Given the description of an element on the screen output the (x, y) to click on. 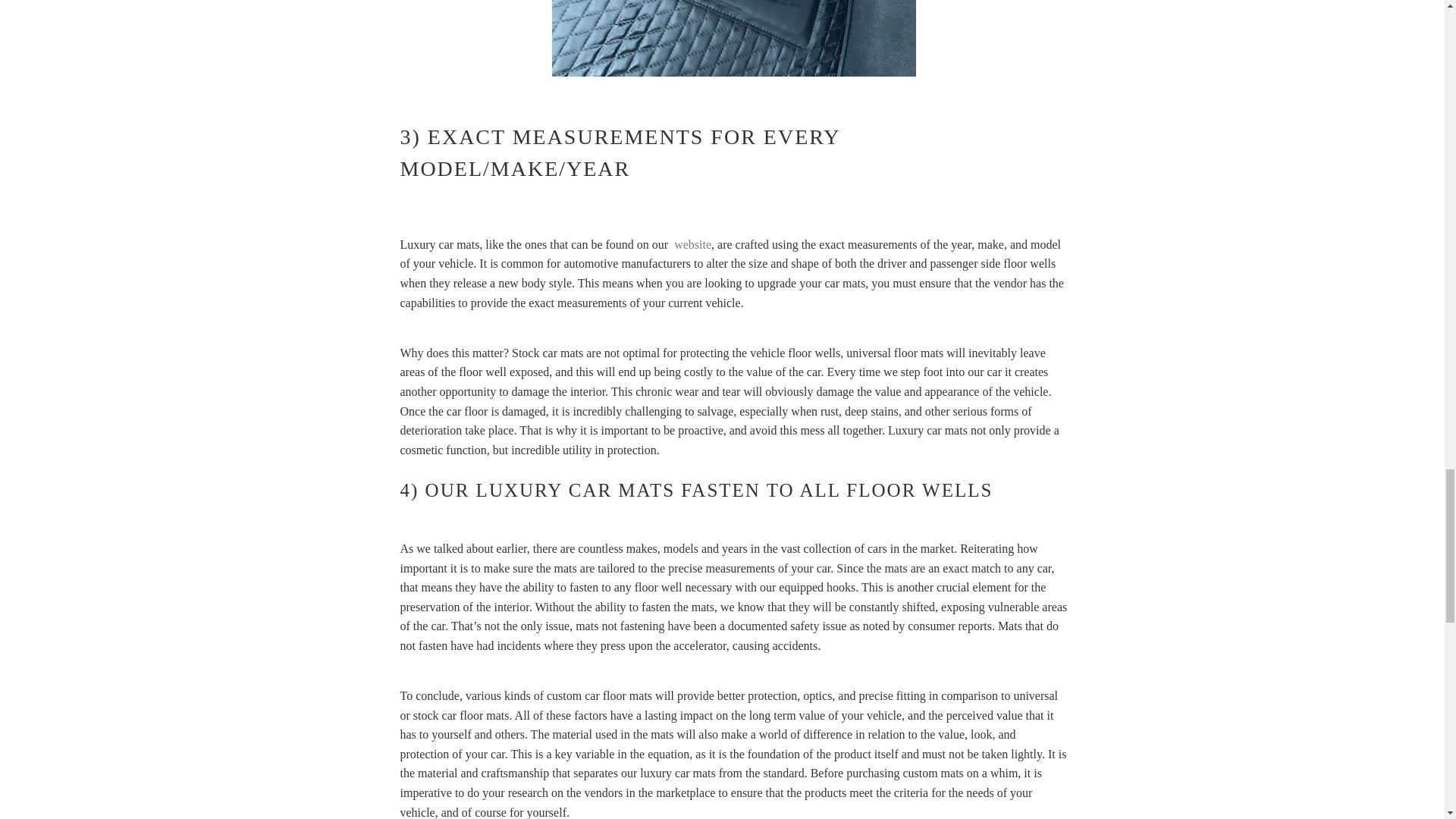
website (692, 244)
